Given the description of an element on the screen output the (x, y) to click on. 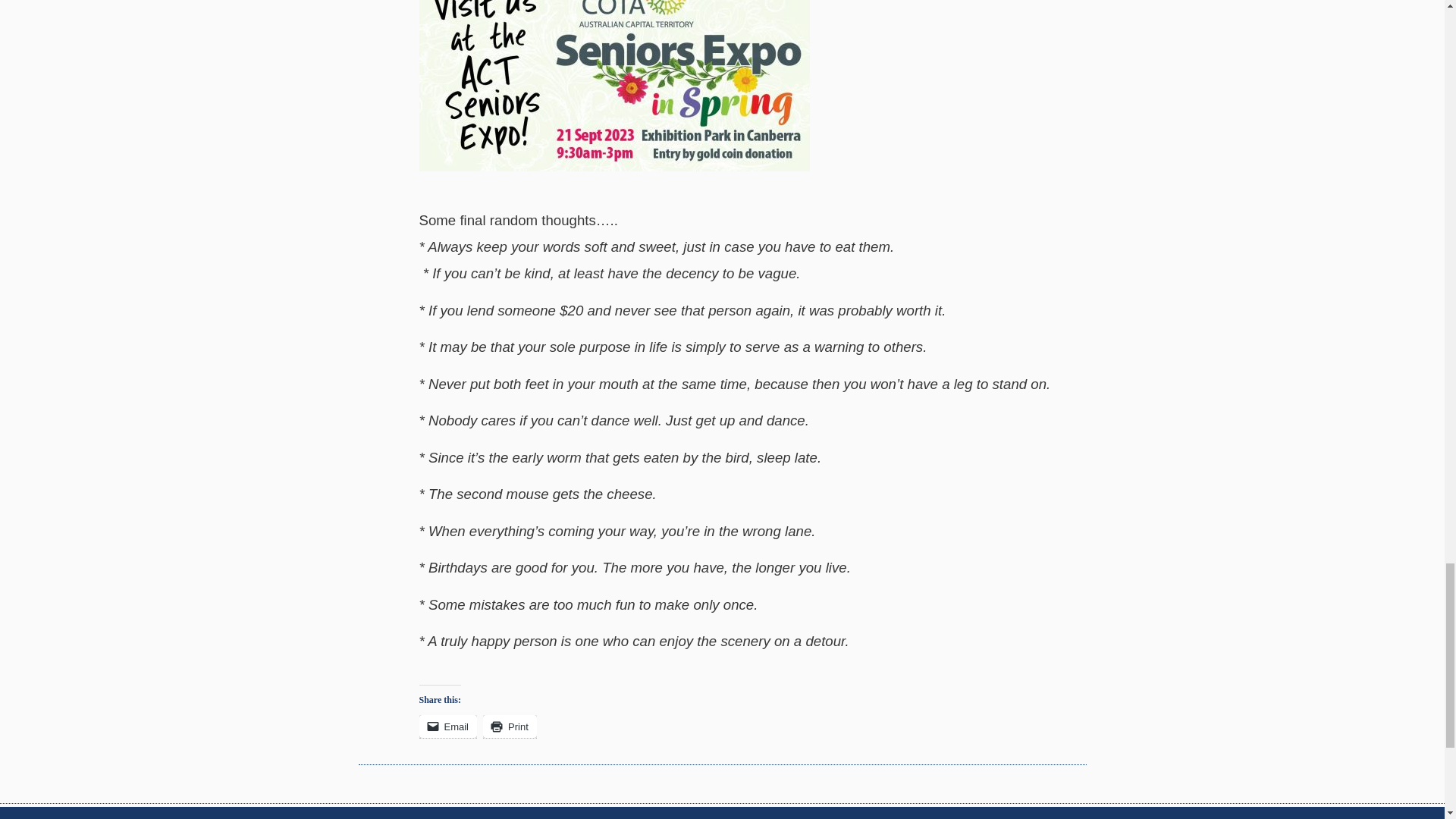
Email (448, 725)
Click to print (510, 725)
Click to email a link to a friend (448, 725)
Print (510, 725)
